Given the description of an element on the screen output the (x, y) to click on. 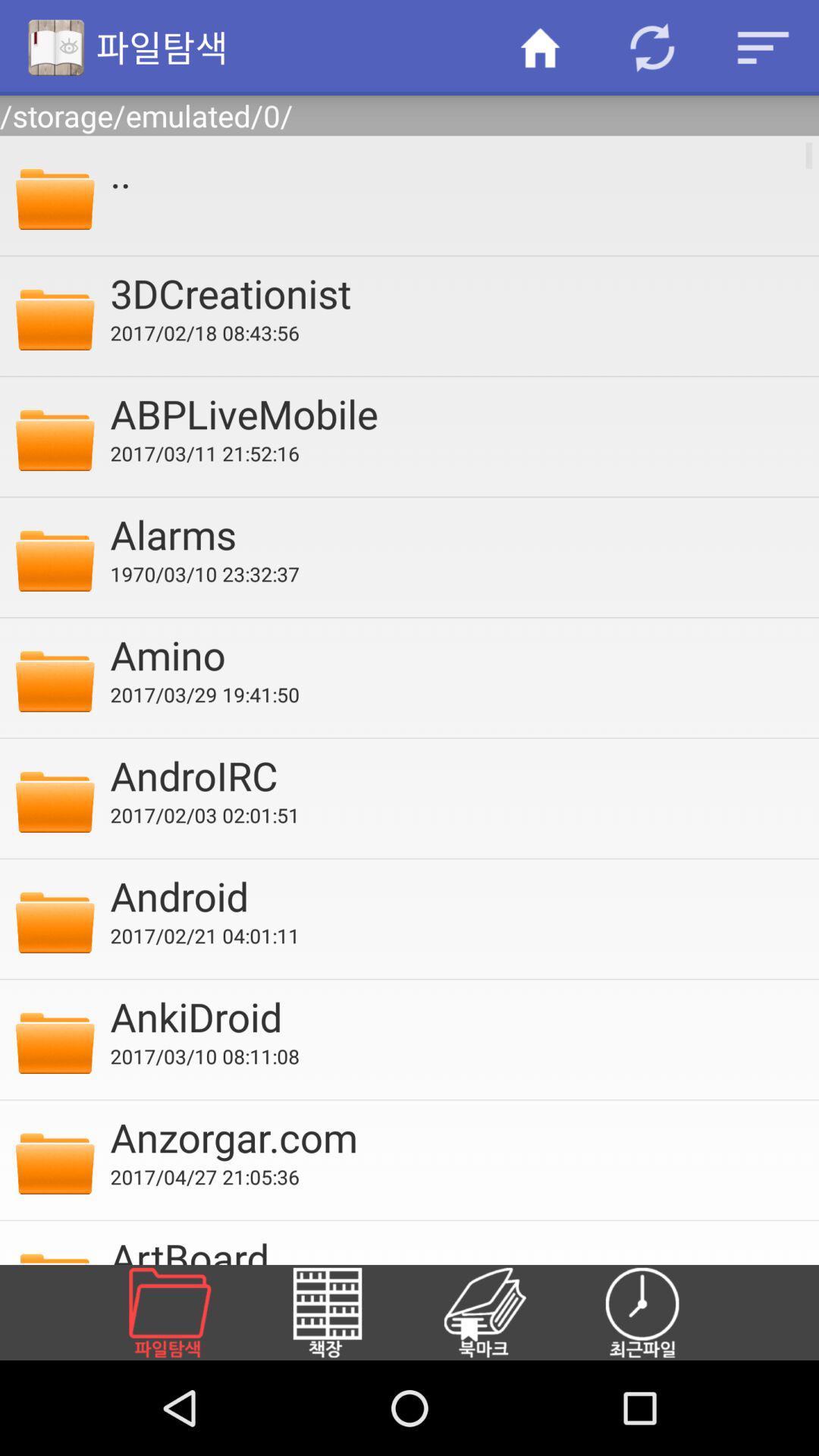
new folder (187, 1312)
